Given the description of an element on the screen output the (x, y) to click on. 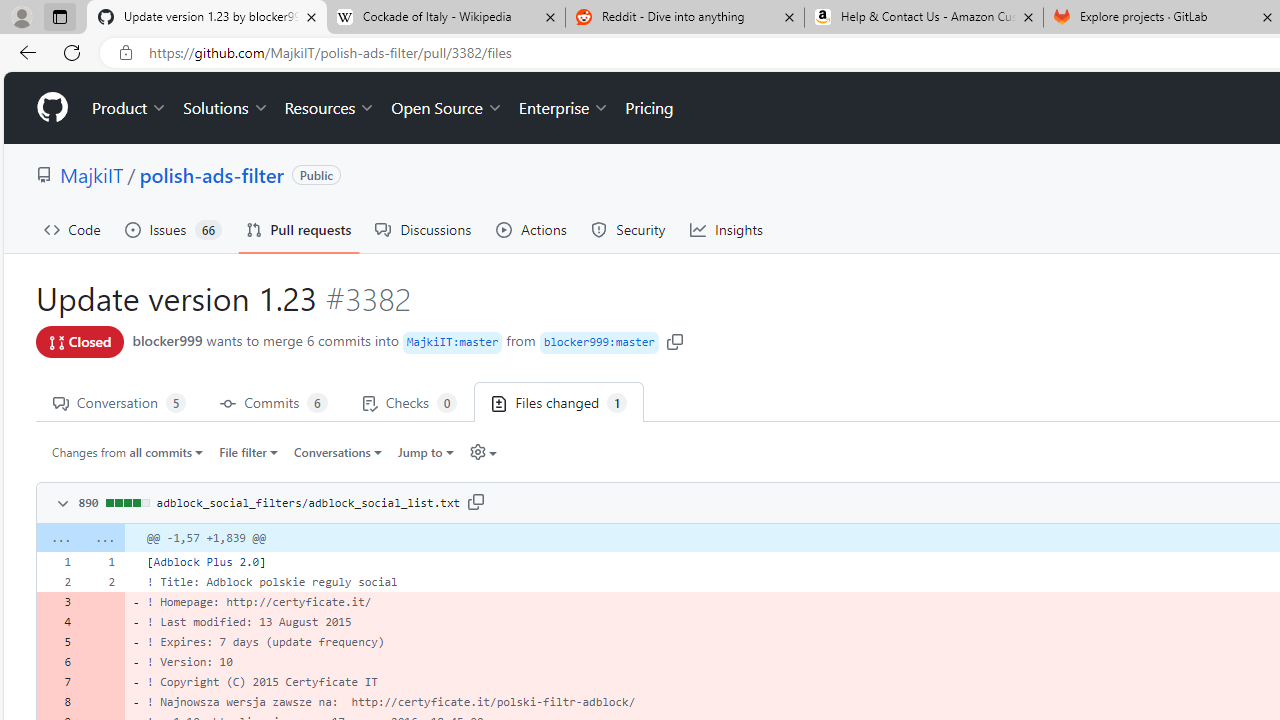
Product (130, 107)
adblock_social_filters/adblock_social_list.txt (308, 502)
Pricing (649, 107)
Solutions (225, 107)
Solutions (225, 107)
MajkiIT (92, 174)
